Given the description of an element on the screen output the (x, y) to click on. 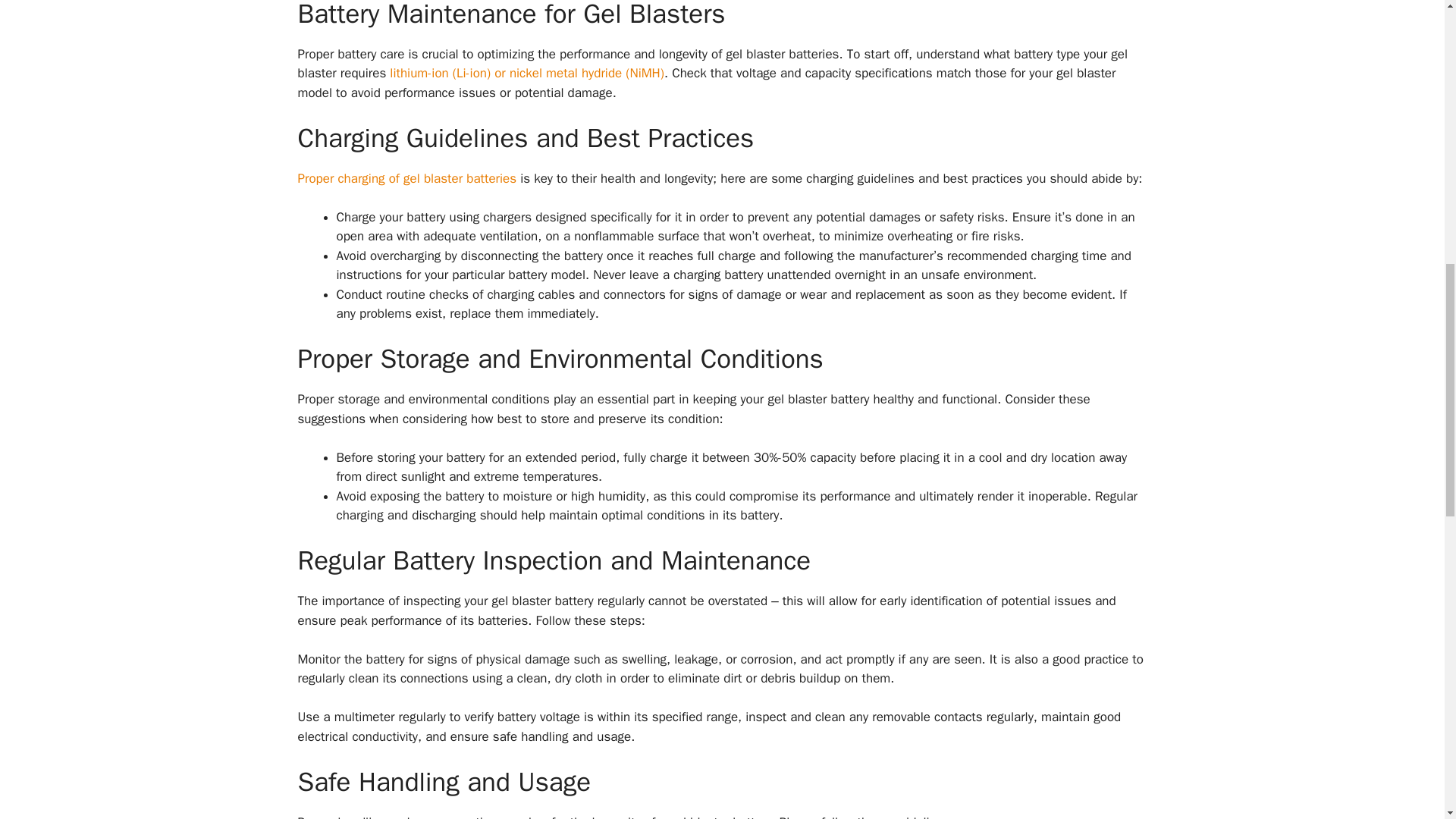
Proper charging of gel blaster batteries (406, 178)
